Given the description of an element on the screen output the (x, y) to click on. 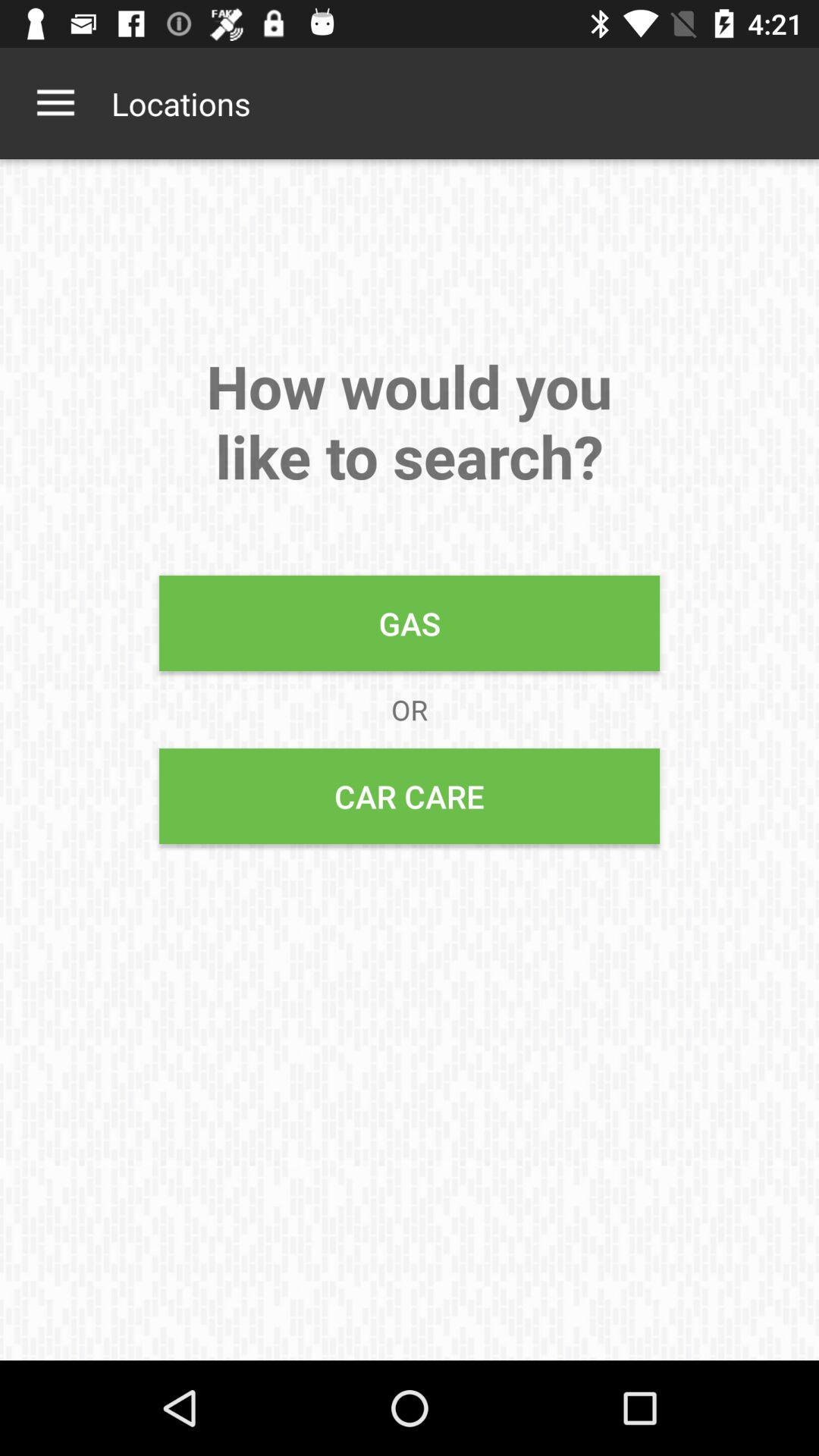
choose the locations item (180, 103)
